Given the description of an element on the screen output the (x, y) to click on. 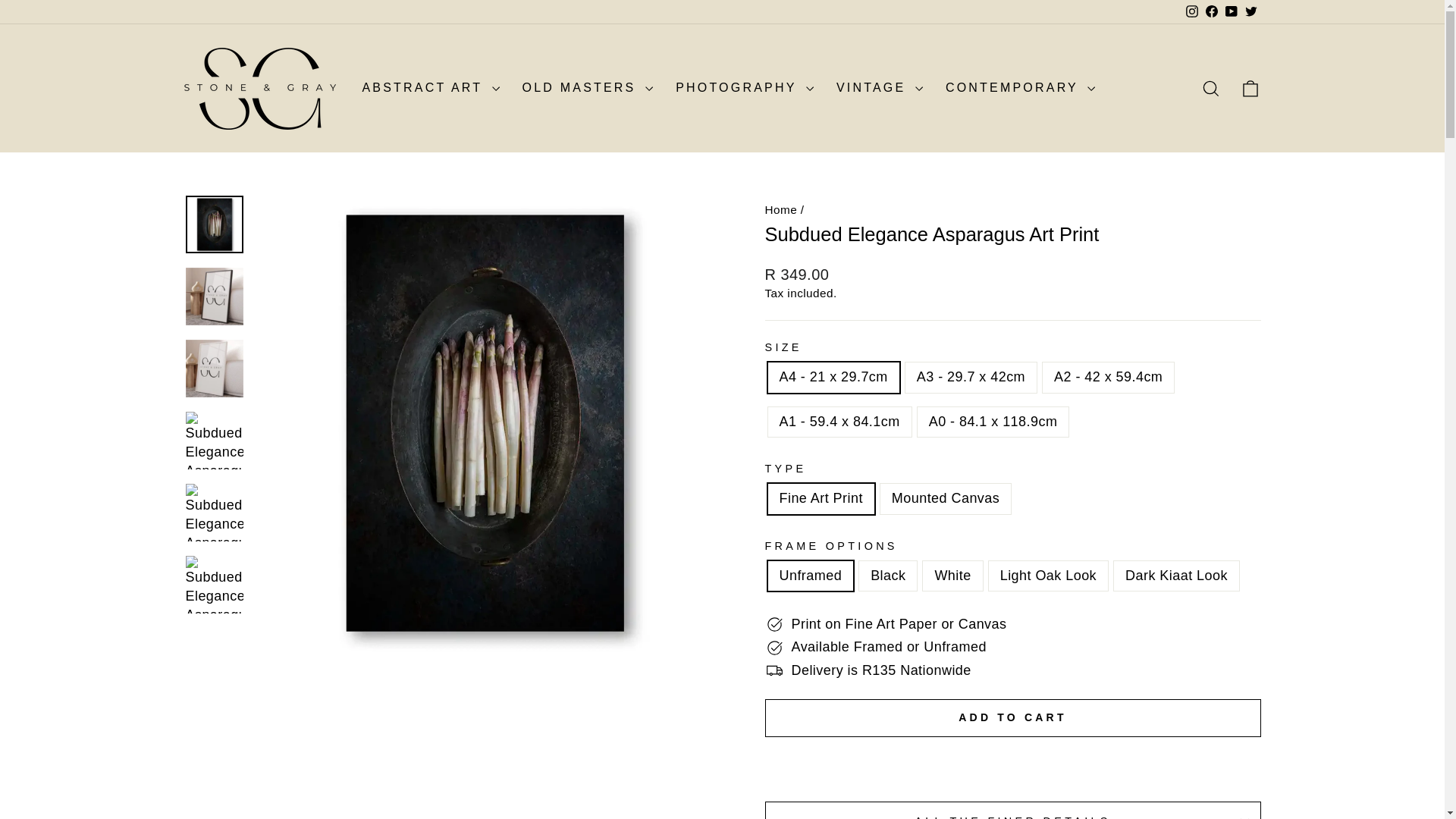
twitter (1250, 10)
ICON-BAG-MINIMAL (1249, 88)
ICON-SEARCH (1210, 88)
Back to the frontpage (780, 209)
